Given the description of an element on the screen output the (x, y) to click on. 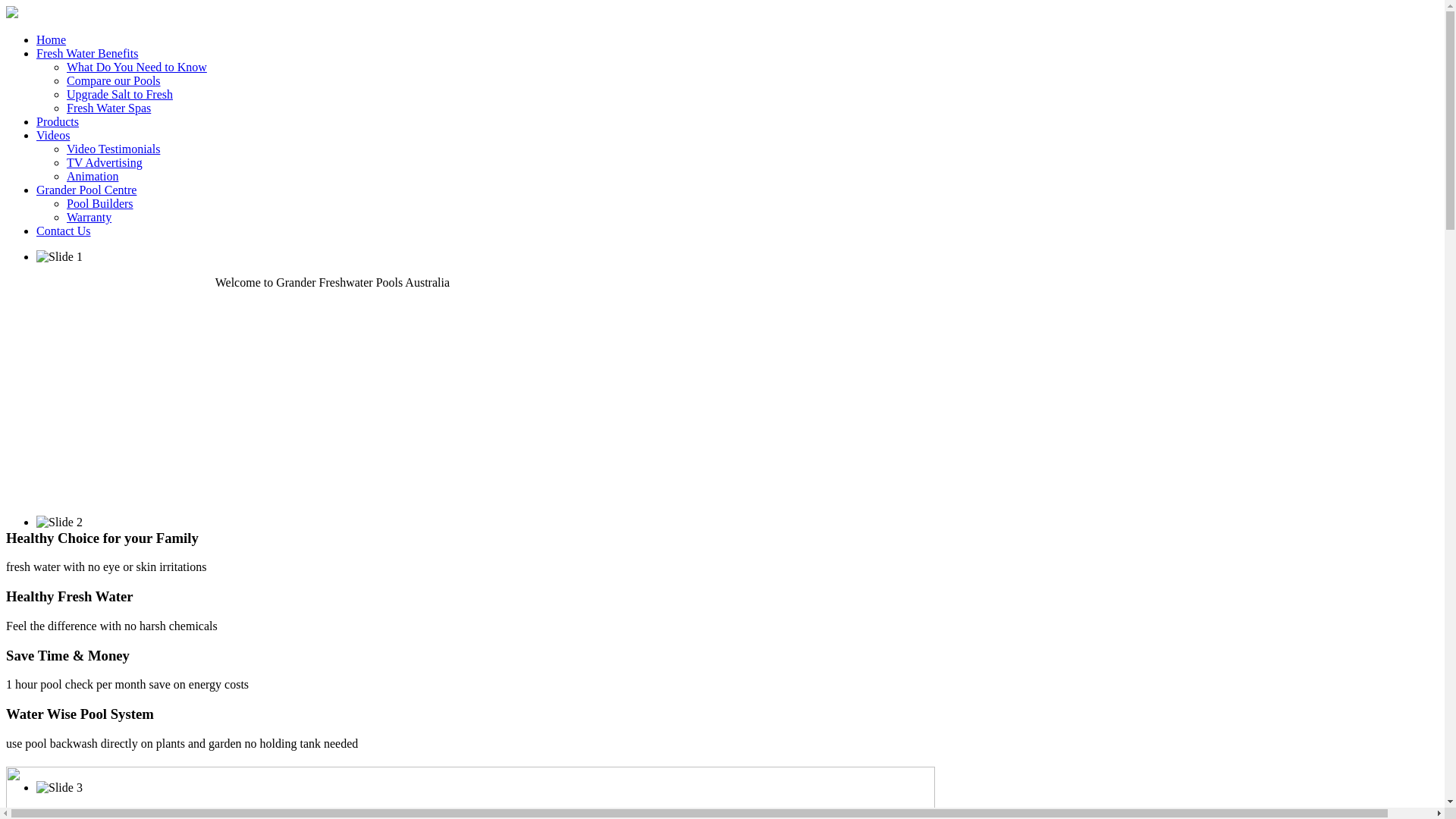
Grander Pool Centre Element type: text (86, 189)
Pool Builders Element type: text (99, 203)
TV Advertising Element type: text (104, 162)
Fresh Water Spas Element type: text (108, 107)
Home Element type: text (50, 39)
Contact Us Element type: text (63, 230)
Videos Element type: text (52, 134)
Upgrade Salt to Fresh Element type: text (119, 93)
Animation Element type: text (92, 175)
Compare our Pools Element type: text (113, 80)
Products Element type: text (57, 121)
What Do You Need to Know Element type: text (136, 66)
Fresh Water Benefits Element type: text (87, 53)
Video Testimonials Element type: text (113, 148)
Warranty Element type: text (88, 216)
